Given the description of an element on the screen output the (x, y) to click on. 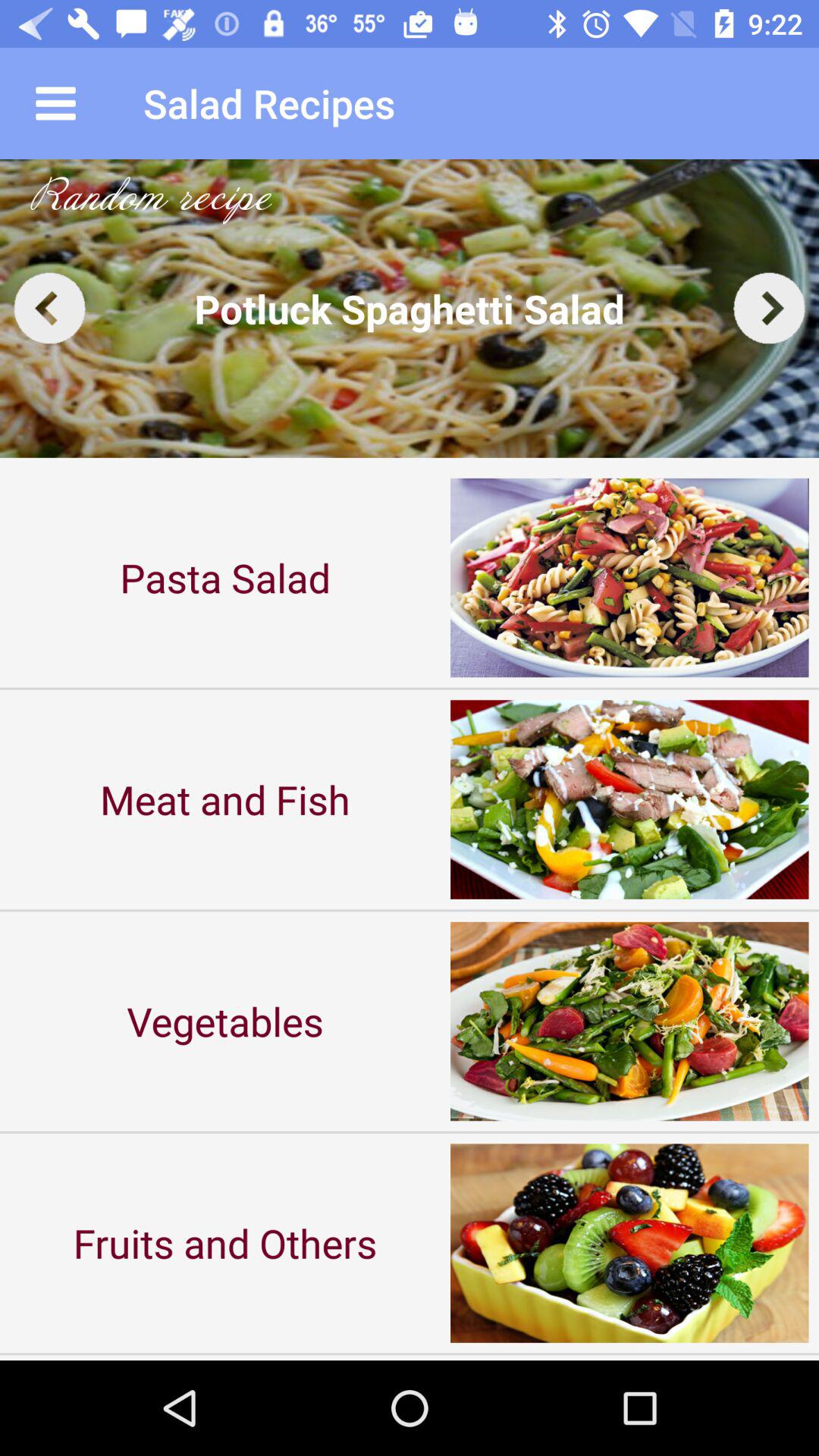
tap the icon below pasta salad item (225, 798)
